Given the description of an element on the screen output the (x, y) to click on. 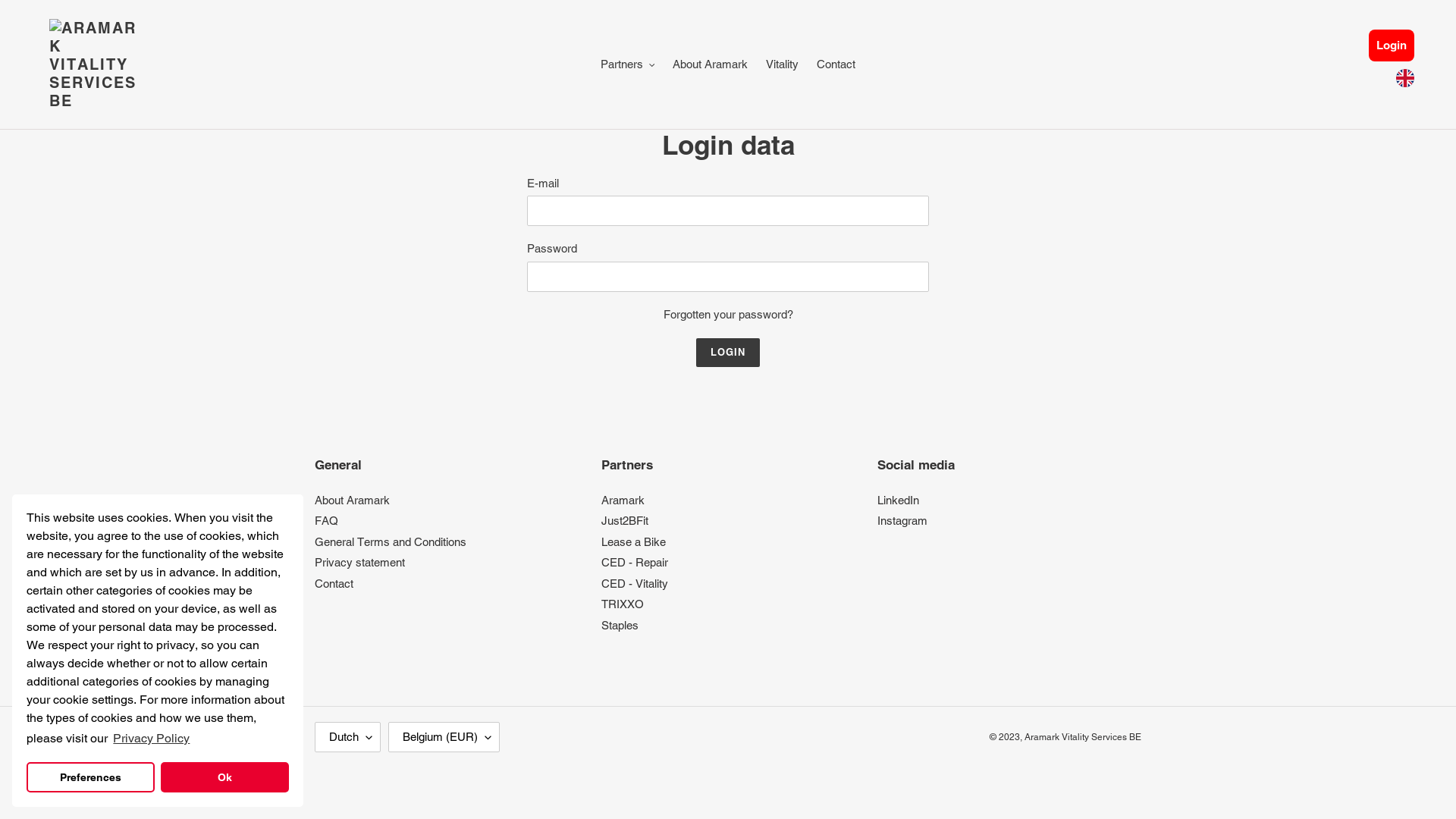
Privacy statement Element type: text (359, 561)
CED - Vitality Element type: text (634, 583)
About Aramark Element type: text (351, 499)
About Aramark Element type: text (710, 64)
Staples Element type: text (619, 624)
Belgium (EUR) Element type: text (443, 736)
Forgotten your password? Element type: text (727, 313)
Vitality Element type: text (782, 64)
Privacy Policy Element type: text (150, 738)
LinkedIn Element type: text (898, 499)
Login Element type: text (727, 352)
Contact Element type: text (835, 64)
Aramark Vitality Services BE Element type: text (1082, 736)
Instagram Element type: text (902, 520)
Login Element type: text (1391, 44)
Dutch Element type: text (347, 736)
FAQ Element type: text (326, 520)
General Terms and Conditions Element type: text (390, 541)
Ok Element type: text (224, 777)
TRIXXO Element type: text (622, 603)
Preferences Element type: text (90, 777)
CED - Repair Element type: text (634, 561)
Partners Element type: text (627, 64)
Aramark Element type: text (622, 499)
Just2BFit Element type: text (624, 520)
Lease a Bike Element type: text (633, 541)
Contact Element type: text (333, 583)
